Given the description of an element on the screen output the (x, y) to click on. 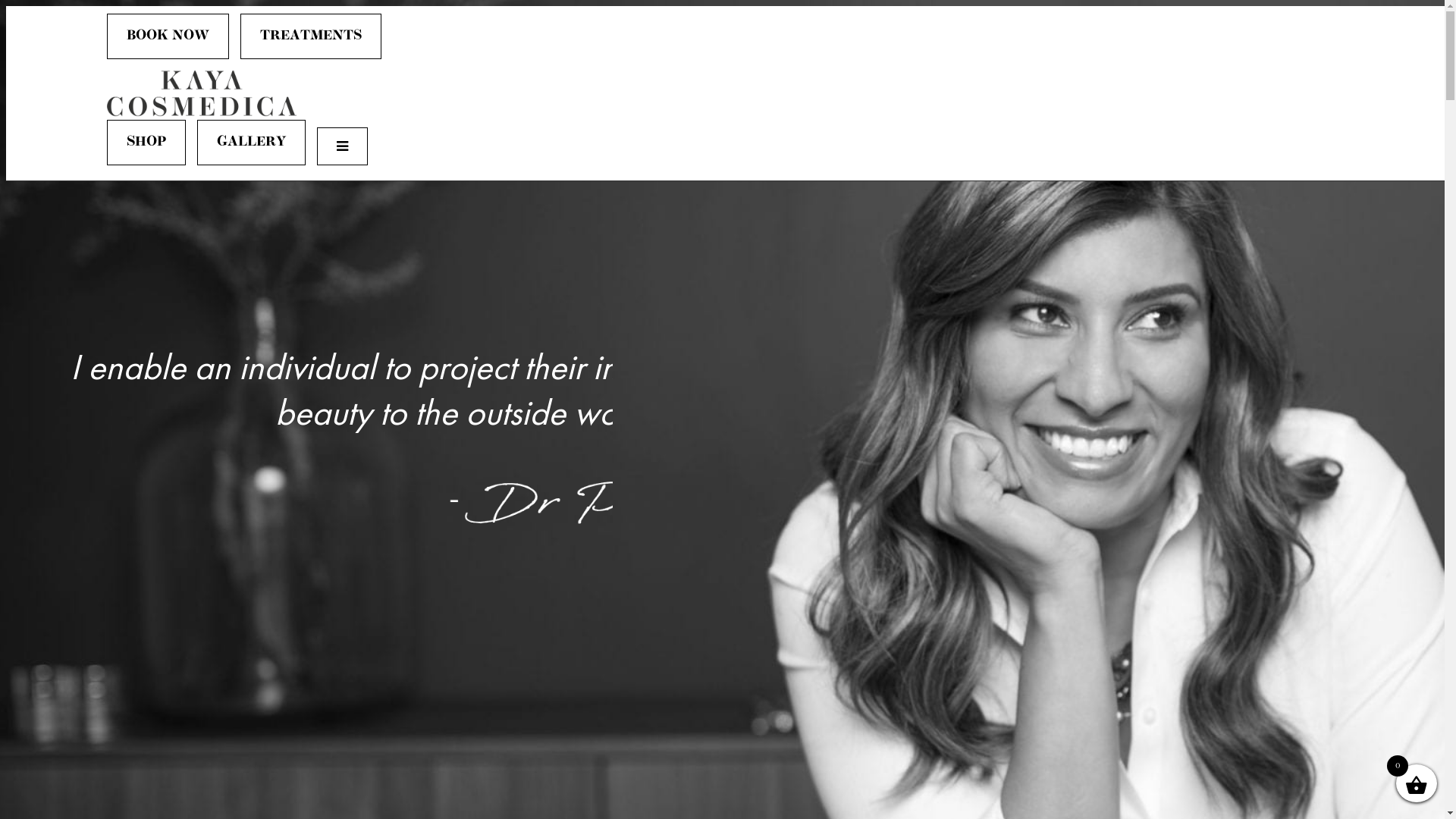
SHOP Element type: text (145, 142)
BOOK NOW Element type: text (167, 36)
GALLERY Element type: text (251, 142)
TREATMENTS Element type: text (310, 36)
